Given the description of an element on the screen output the (x, y) to click on. 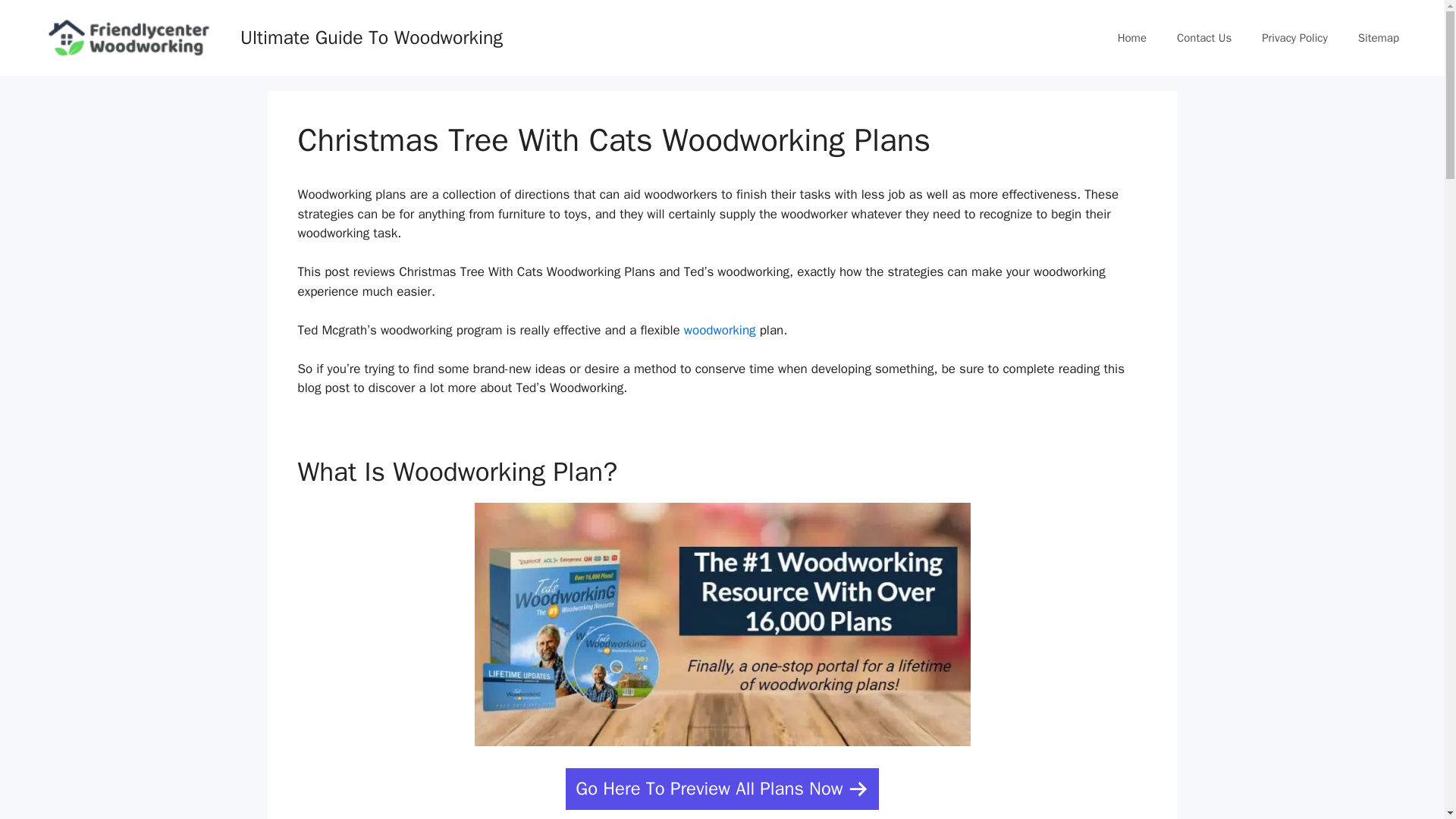
Go Here To Preview All Plans Now (721, 788)
woodworking (719, 330)
Privacy Policy (1294, 37)
Sitemap (1377, 37)
Contact Us (1203, 37)
Ultimate Guide To Woodworking (371, 37)
Home (1131, 37)
